Given the description of an element on the screen output the (x, y) to click on. 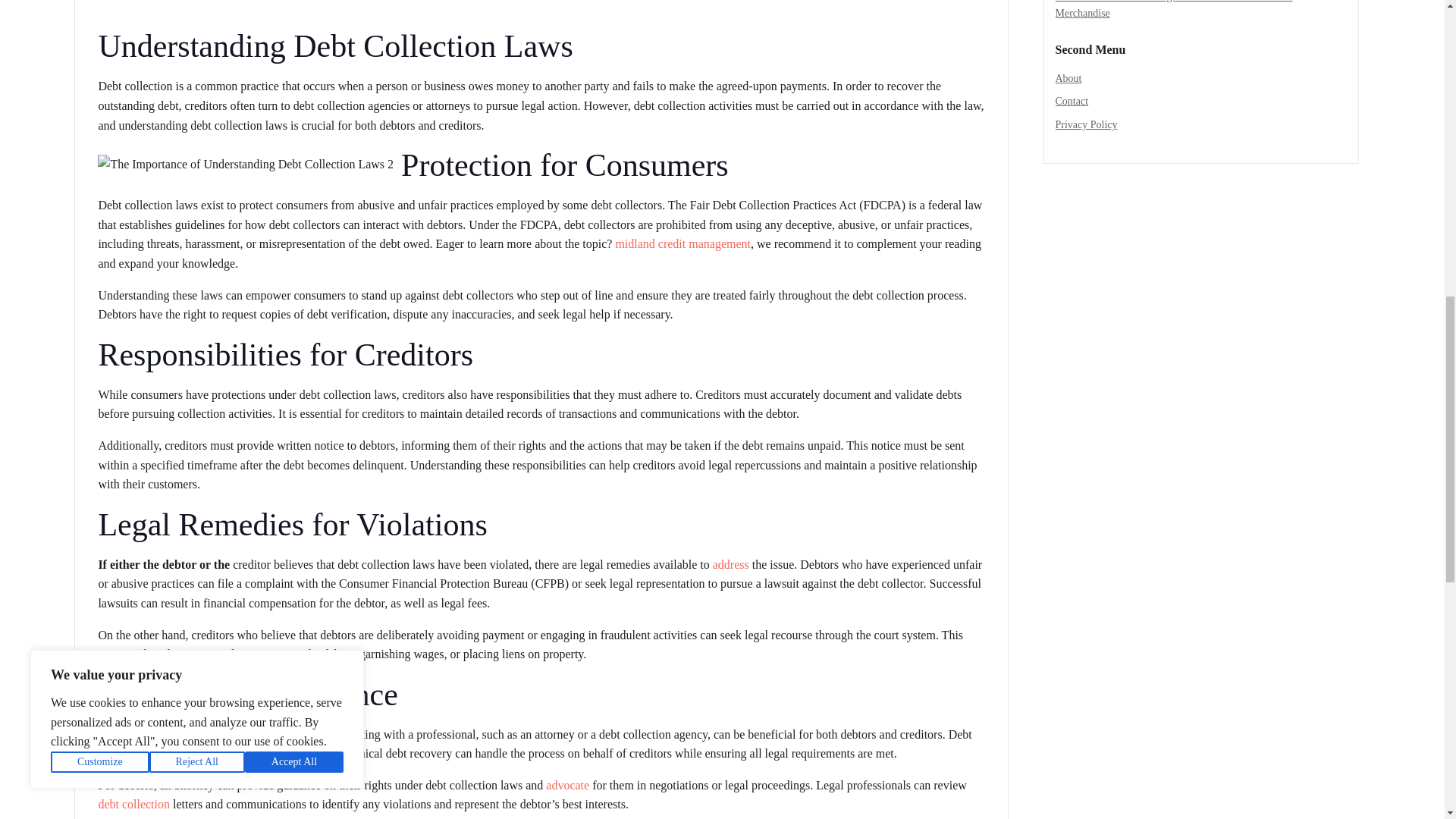
admin (119, 0)
midland credit management (682, 243)
address (731, 563)
advocate (567, 784)
debt collection (133, 803)
